Given the description of an element on the screen output the (x, y) to click on. 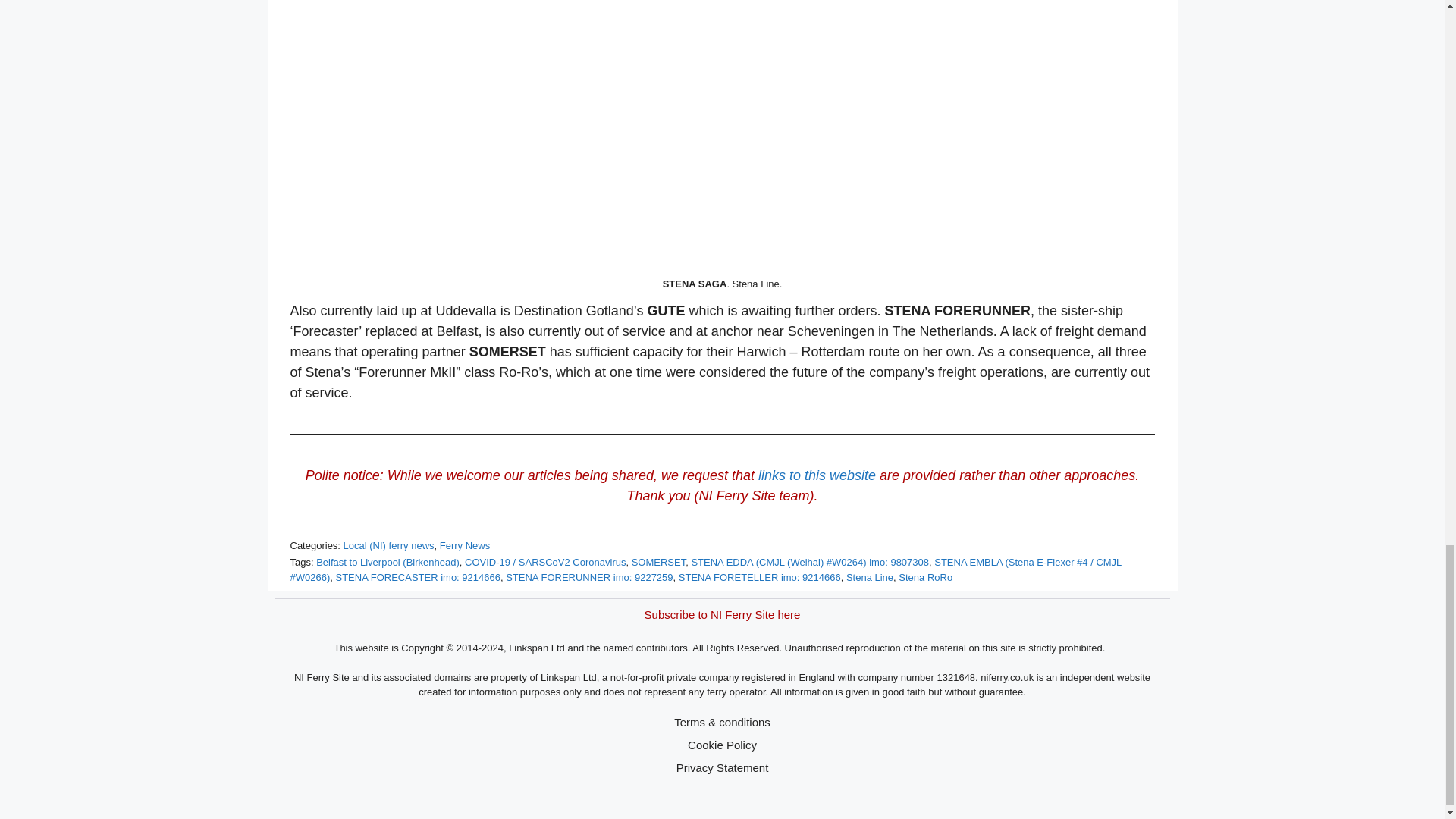
Green Web Hosting by Krystal (335, 803)
